Given the description of an element on the screen output the (x, y) to click on. 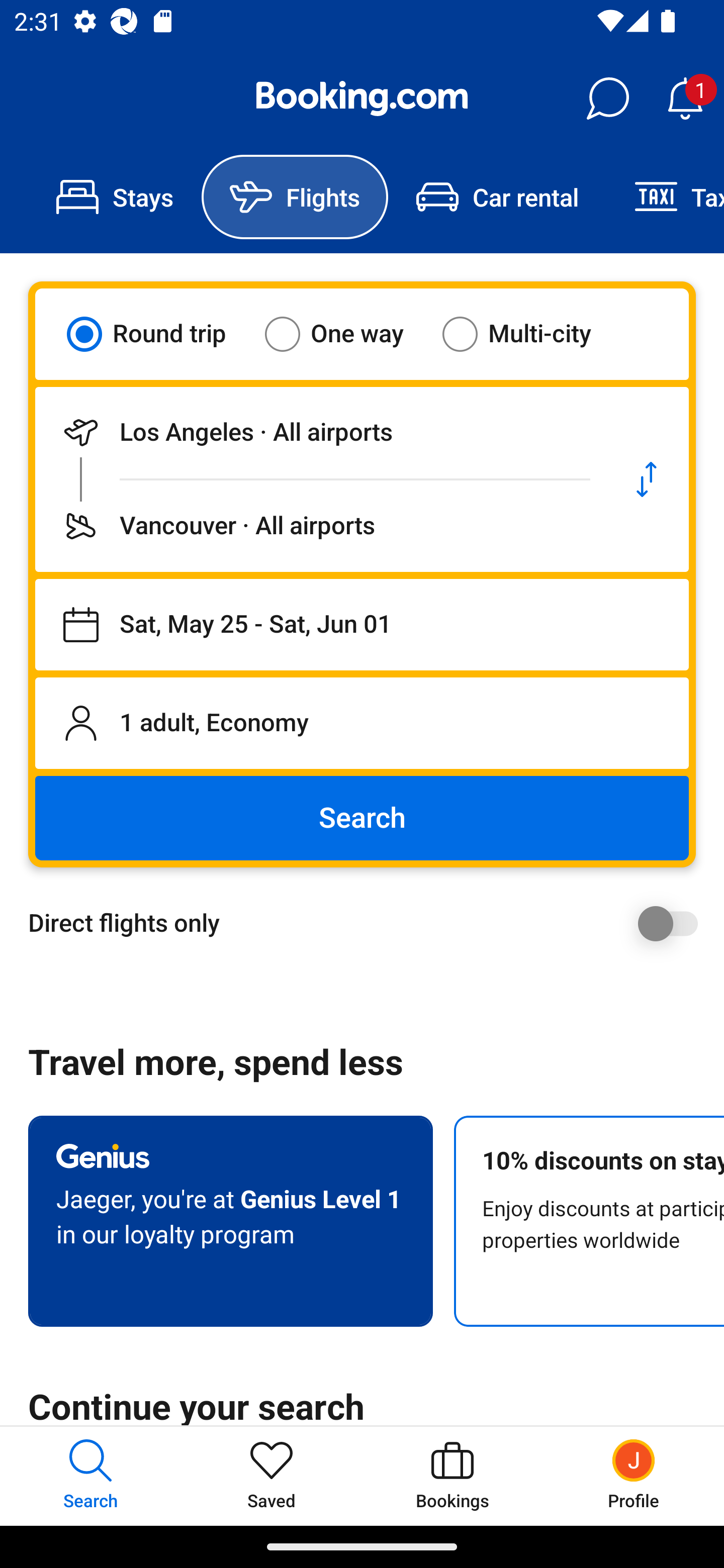
Messages (607, 98)
Notifications (685, 98)
Stays (114, 197)
Flights (294, 197)
Car rental (497, 197)
Taxi (665, 197)
One way (346, 333)
Multi-city (528, 333)
Departing from Los Angeles · All airports (319, 432)
Swap departure location and destination (646, 479)
Flying to Vancouver · All airports (319, 525)
Departing on Sat, May 25, returning on Sat, Jun 01 (361, 624)
1 adult, Economy (361, 722)
Search (361, 818)
Direct flights only (369, 923)
Saved (271, 1475)
Bookings (452, 1475)
Profile (633, 1475)
